Given the description of an element on the screen output the (x, y) to click on. 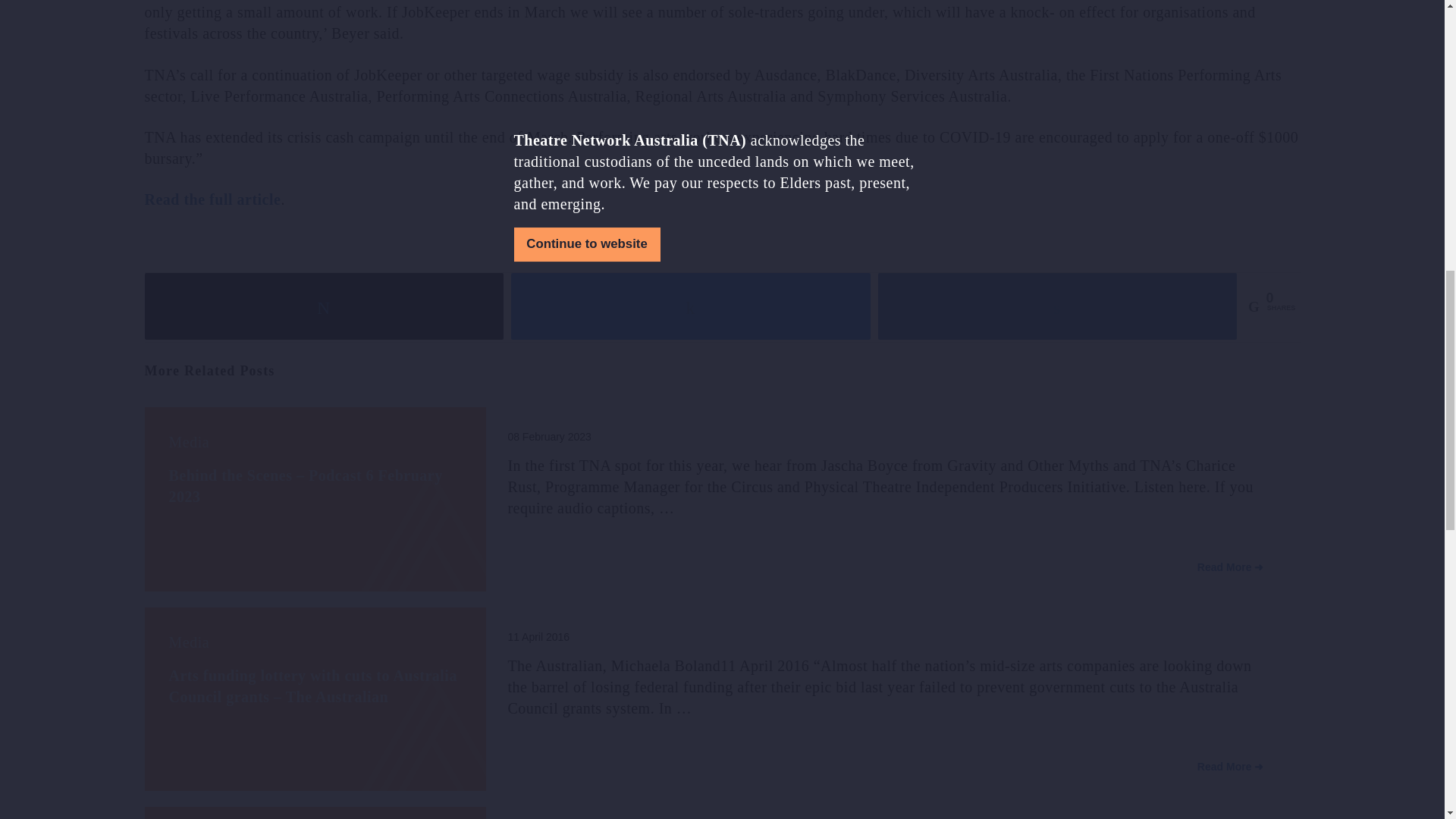
Read More (1230, 767)
Read More (1230, 566)
